Given the description of an element on the screen output the (x, y) to click on. 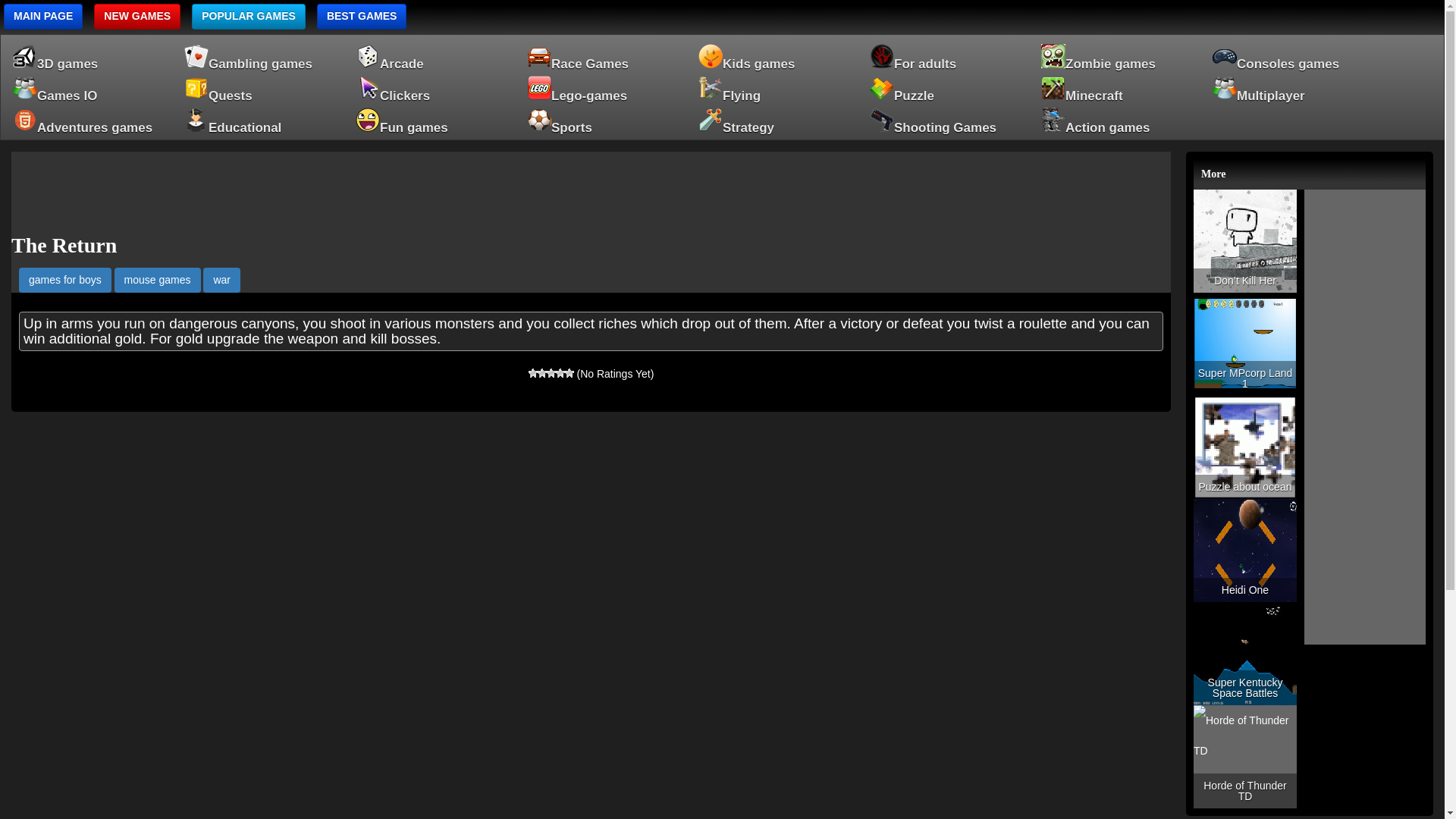
Adventures games (88, 119)
Horde of Thunder TD (1245, 756)
MAIN PAGE (43, 16)
Fun games (431, 119)
For adults (945, 55)
war (221, 279)
Super Kentucky Space Battles (1245, 653)
Consoles games (1288, 55)
Gambling games (259, 55)
Flying (773, 87)
